Given the description of an element on the screen output the (x, y) to click on. 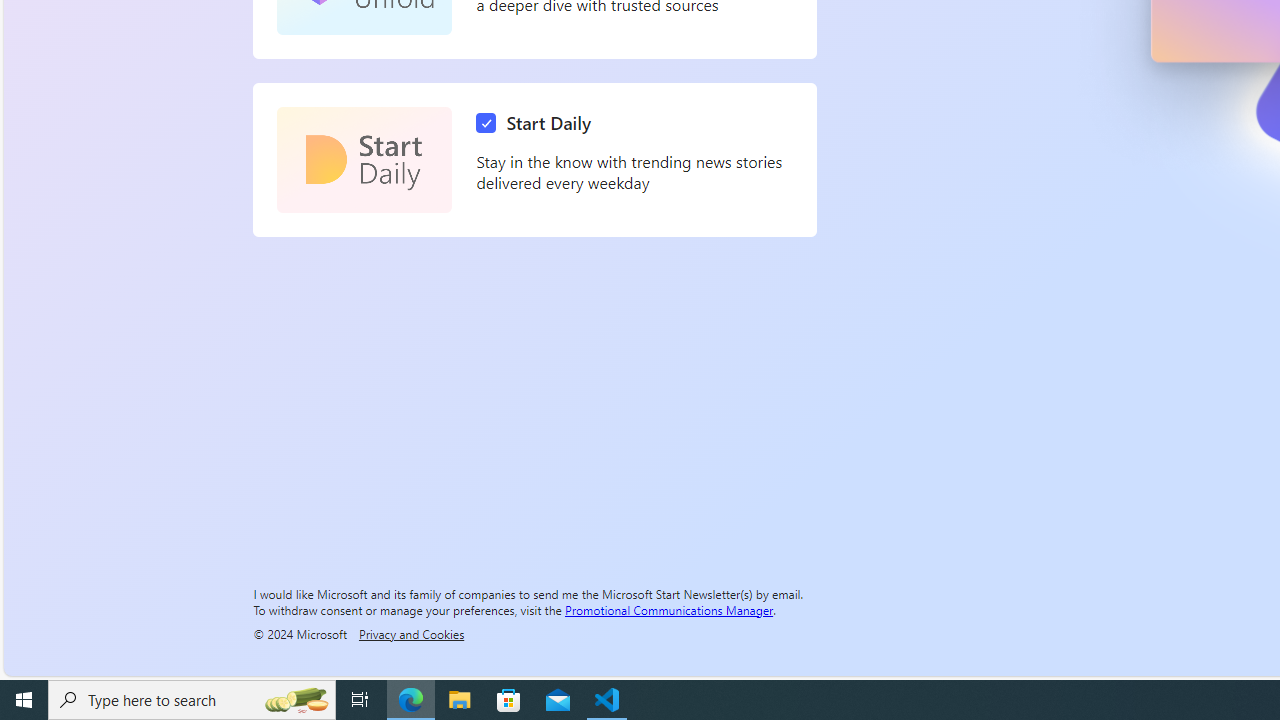
Promotional Communications Manager (669, 609)
Start Daily (538, 123)
Privacy and Cookies (411, 633)
Start Daily (364, 160)
